Given the description of an element on the screen output the (x, y) to click on. 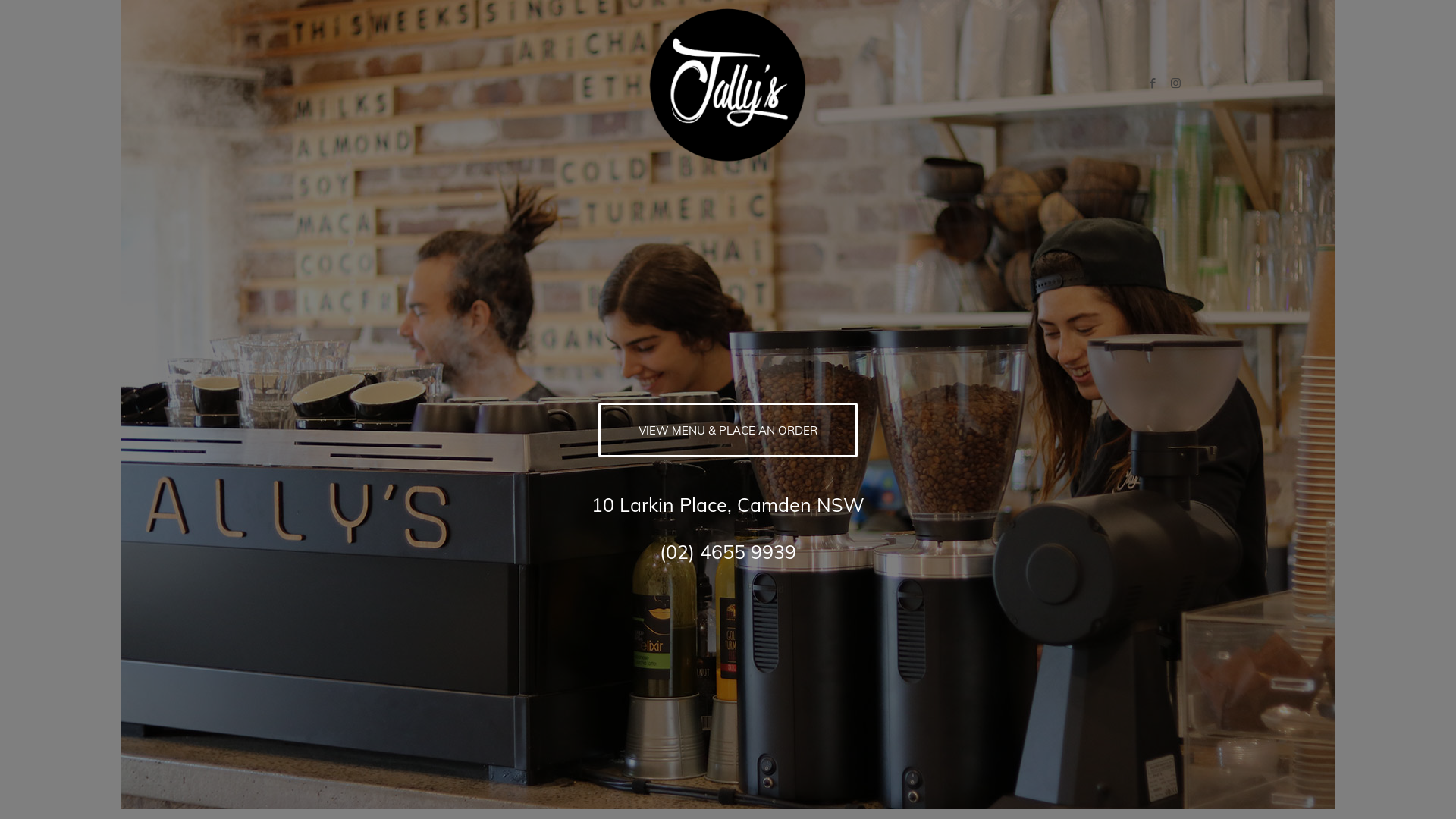
Facebook Element type: hover (1152, 83)
VIEW MENU & PLACE AN ORDER Element type: text (727, 429)
Instagram Element type: hover (1175, 83)
